Given the description of an element on the screen output the (x, y) to click on. 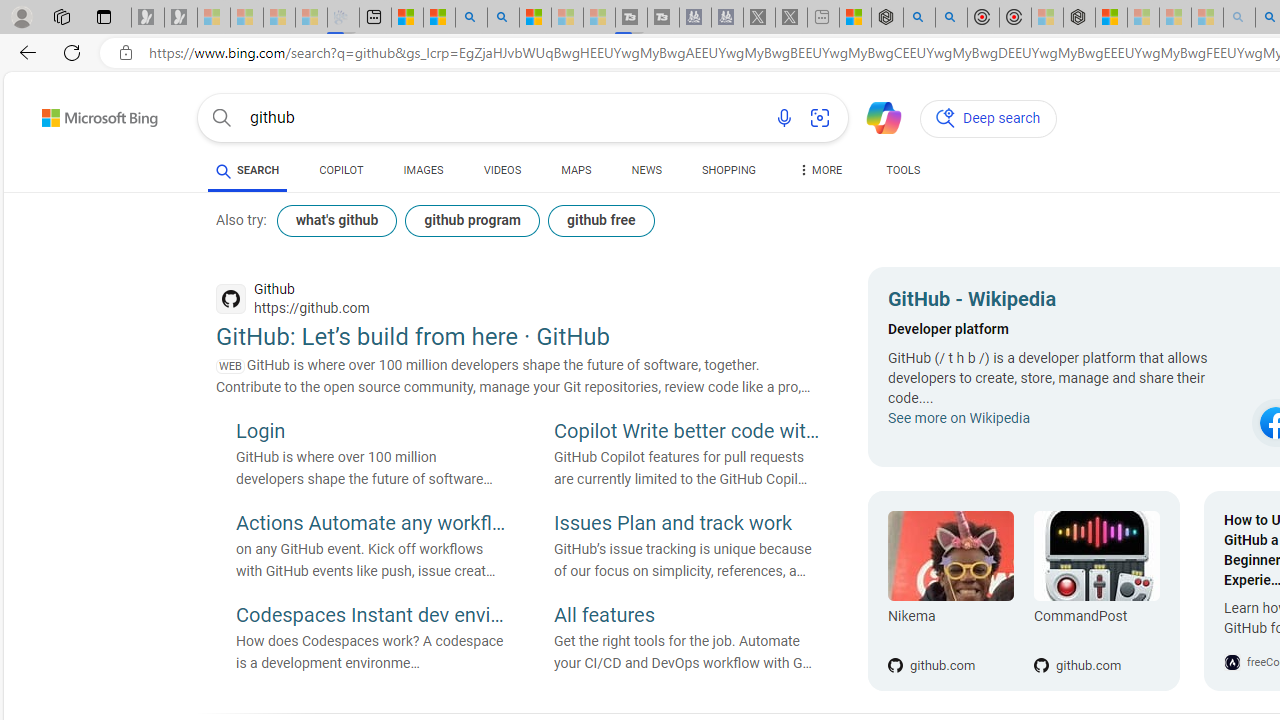
Nikema (950, 619)
SEARCH (247, 170)
SHOPPING (728, 173)
CommandPost (1096, 619)
All features (689, 616)
COPILOT (341, 170)
NEWS (646, 170)
Nikema Nikema github.com (950, 591)
CommandPost CommandPost github.com (1086, 591)
Nikema (950, 556)
IMAGES (423, 173)
